Given the description of an element on the screen output the (x, y) to click on. 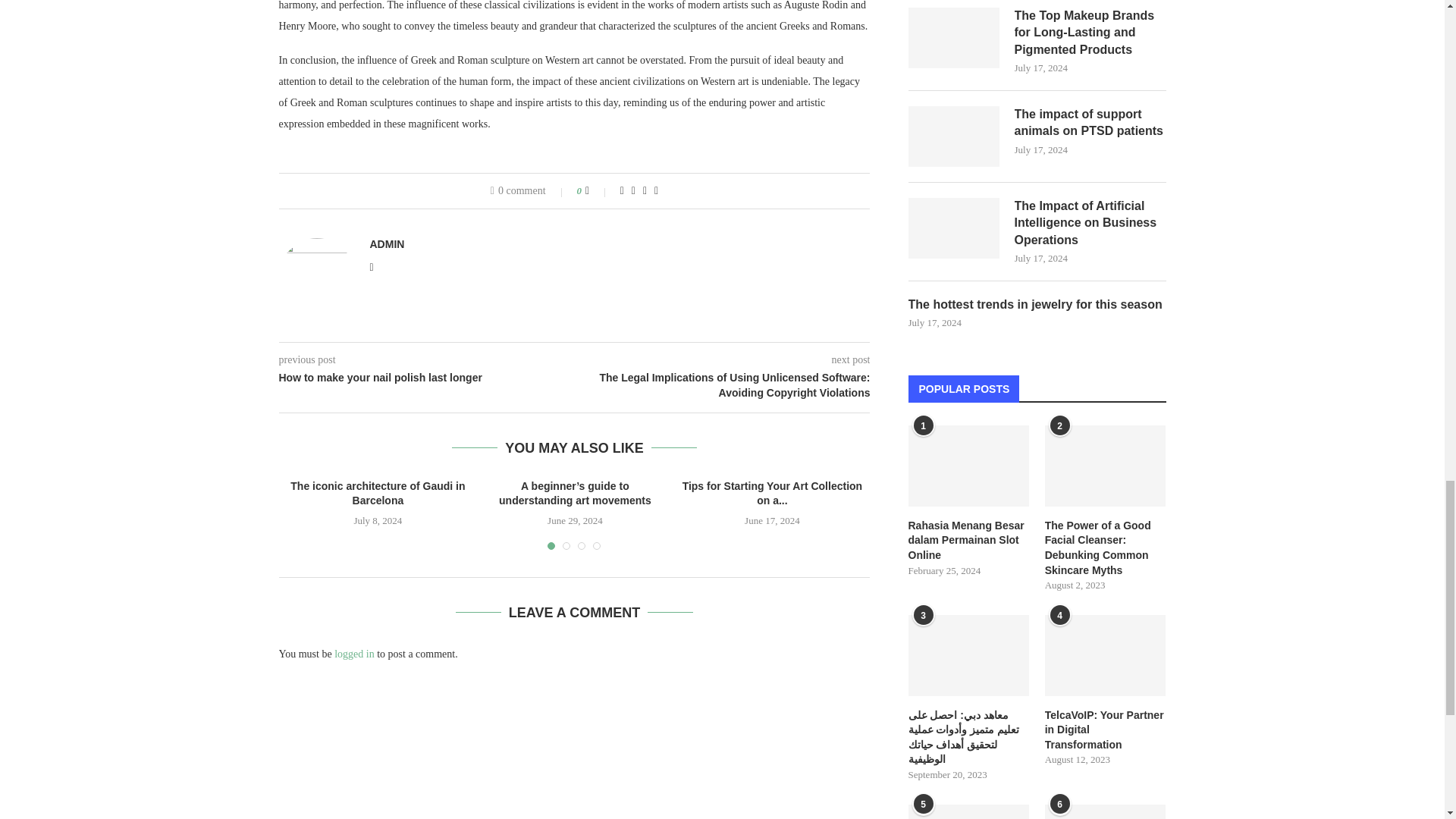
Like (597, 191)
Author admin (386, 244)
